Given the description of an element on the screen output the (x, y) to click on. 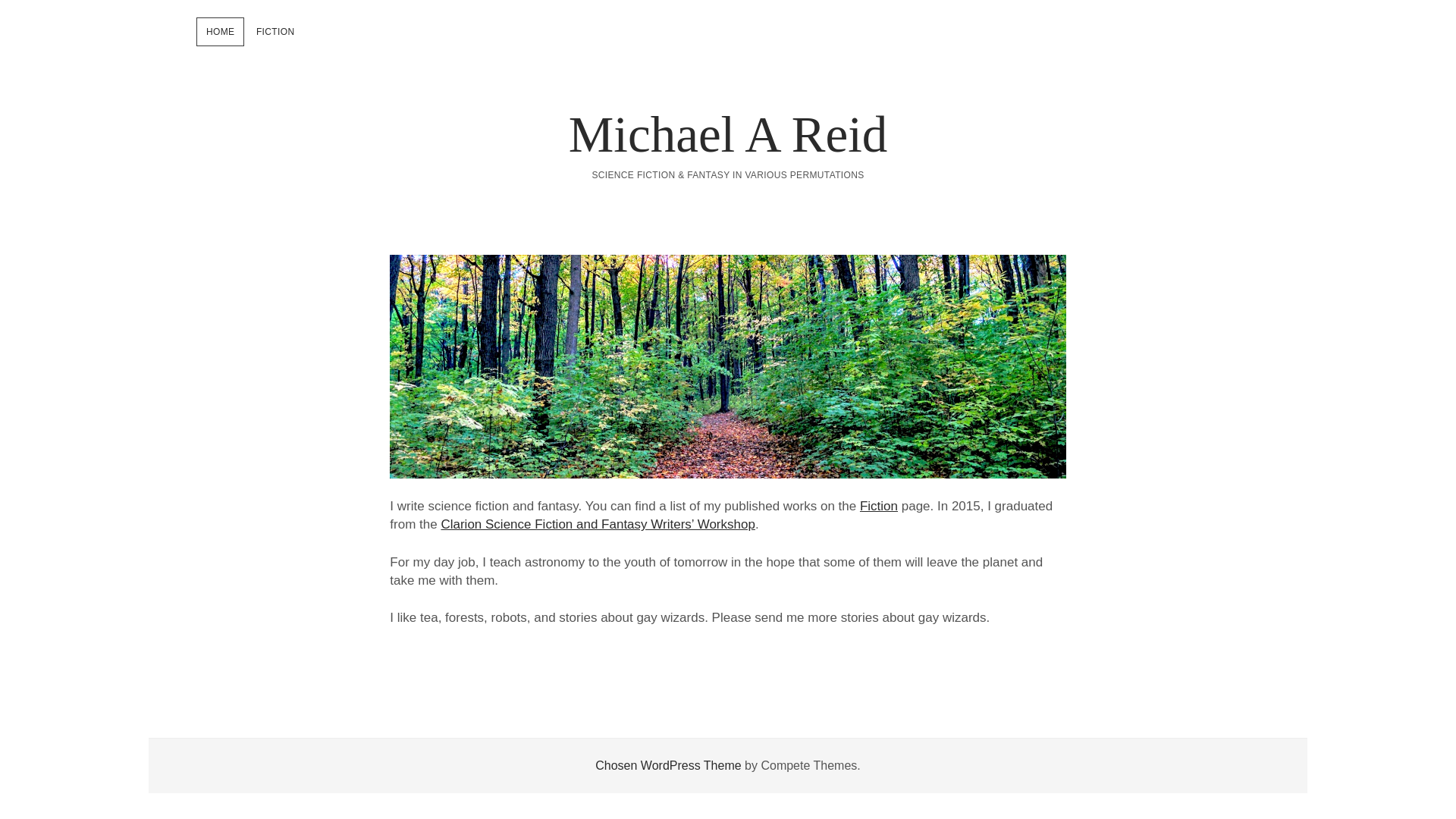
Chosen WordPress Theme (668, 765)
HOME (219, 31)
Michael A Reid (728, 134)
FICTION (275, 31)
Fiction (879, 505)
